Given the description of an element on the screen output the (x, y) to click on. 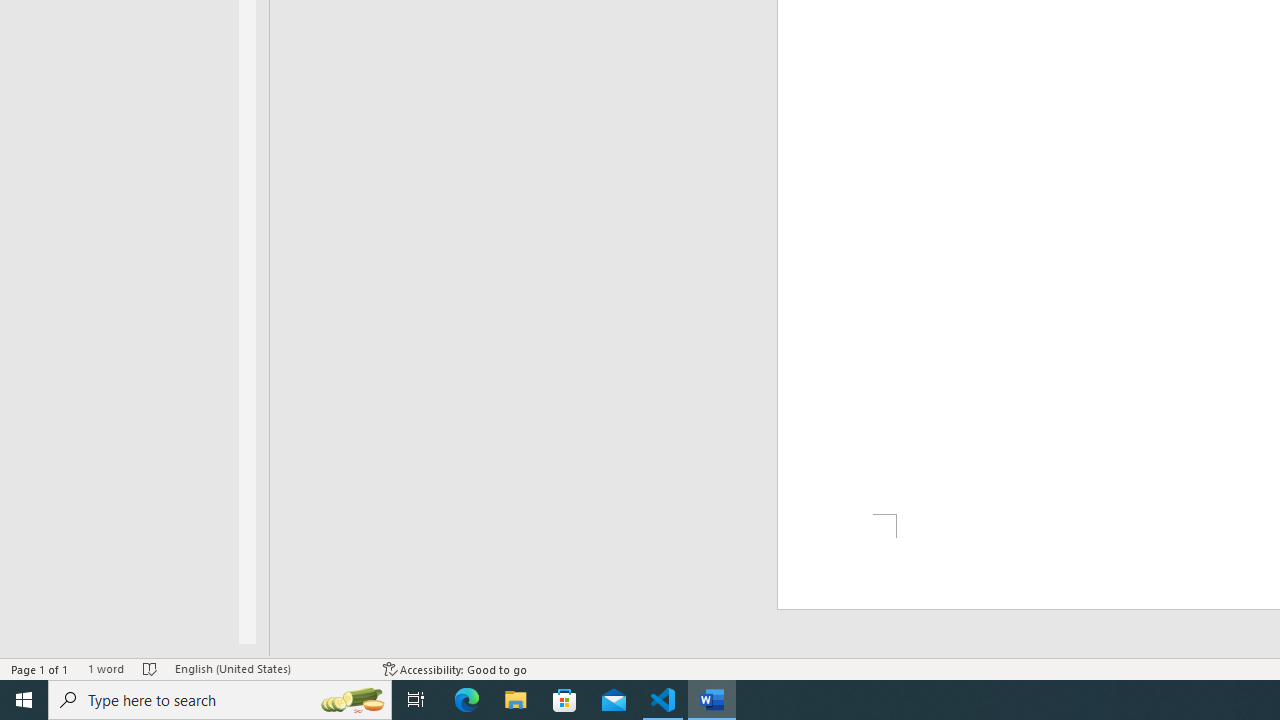
Page Number Page 1 of 1 (39, 668)
Spelling and Grammar Check No Errors (150, 668)
